Given the description of an element on the screen output the (x, y) to click on. 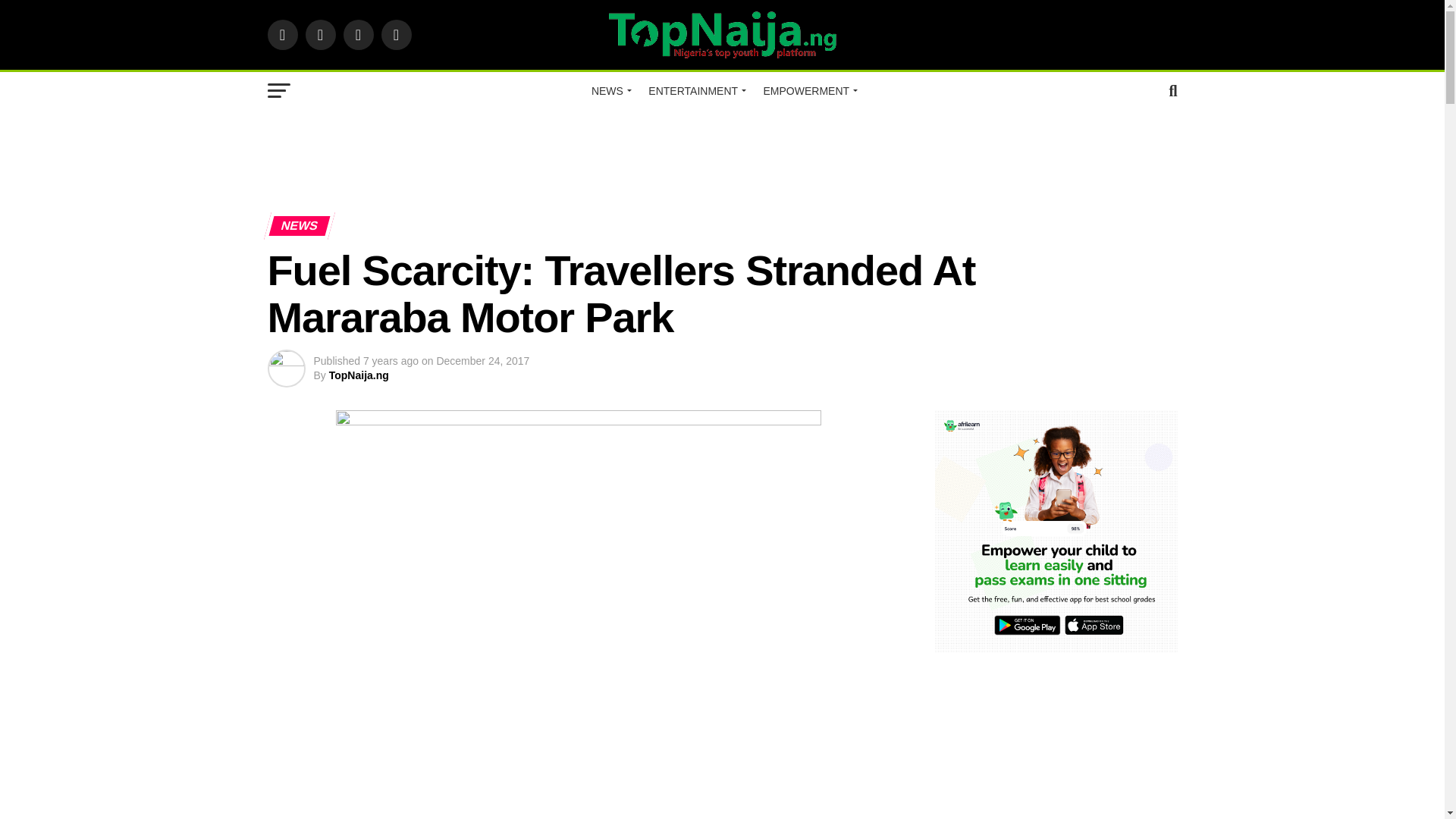
EMPOWERMENT (808, 90)
ENTERTAINMENT (695, 90)
Advertisement (721, 156)
NEWS (609, 90)
TopNaija.ng (358, 375)
Posts by TopNaija.ng (358, 375)
Advertisement (608, 765)
